Given the description of an element on the screen output the (x, y) to click on. 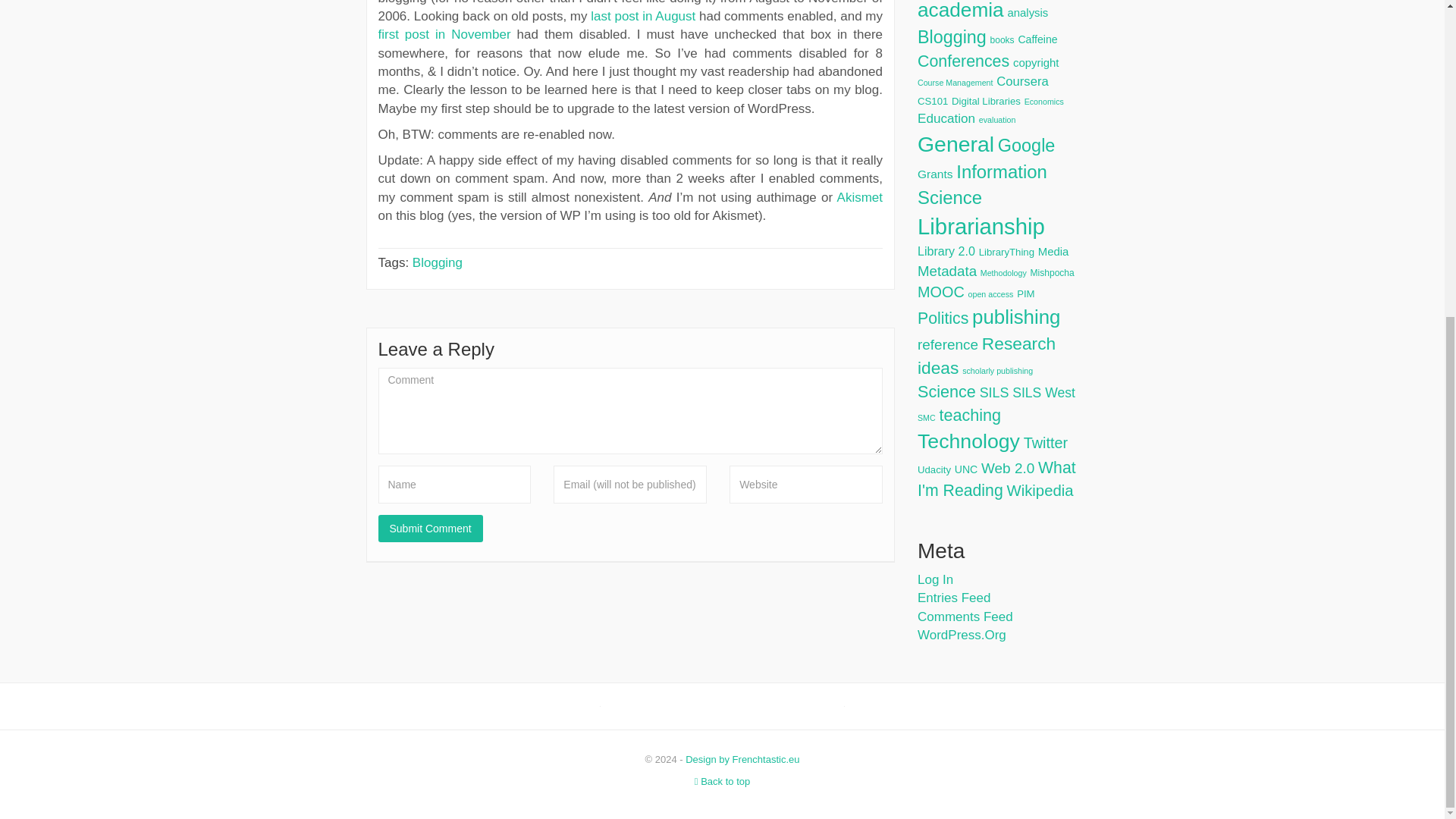
Information Science (981, 184)
Blogging (952, 36)
academia (960, 10)
Economics (1044, 101)
Metadata (946, 270)
analysis (1027, 11)
first post in November (444, 34)
Grants (935, 173)
Blogging (437, 262)
General (955, 143)
Akismet (859, 197)
Education (946, 118)
evaluation (997, 119)
LibraryThing (1005, 251)
books (1002, 40)
